Given the description of an element on the screen output the (x, y) to click on. 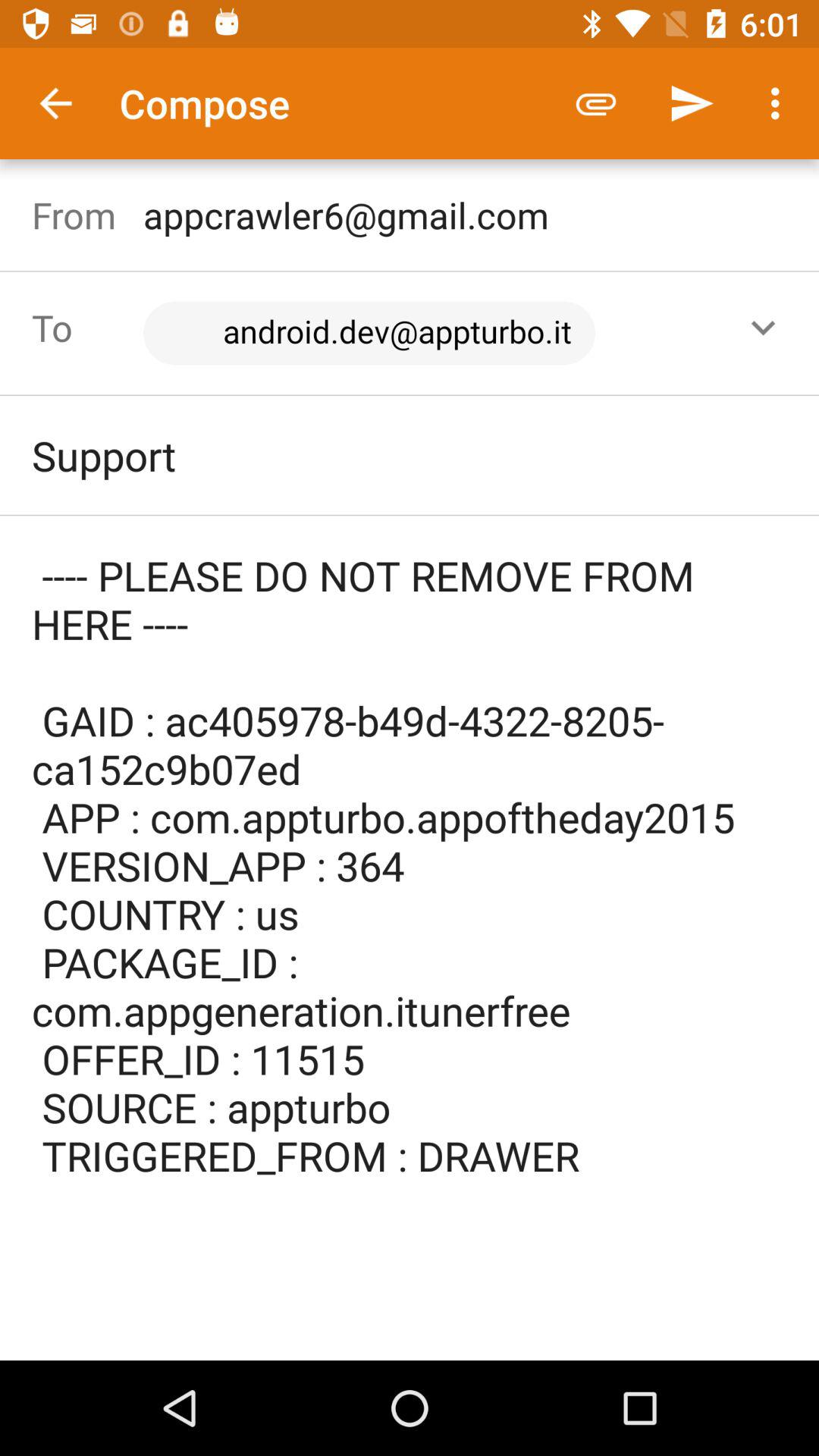
launch item above the appcrawler6@gmail.com icon (691, 103)
